Given the description of an element on the screen output the (x, y) to click on. 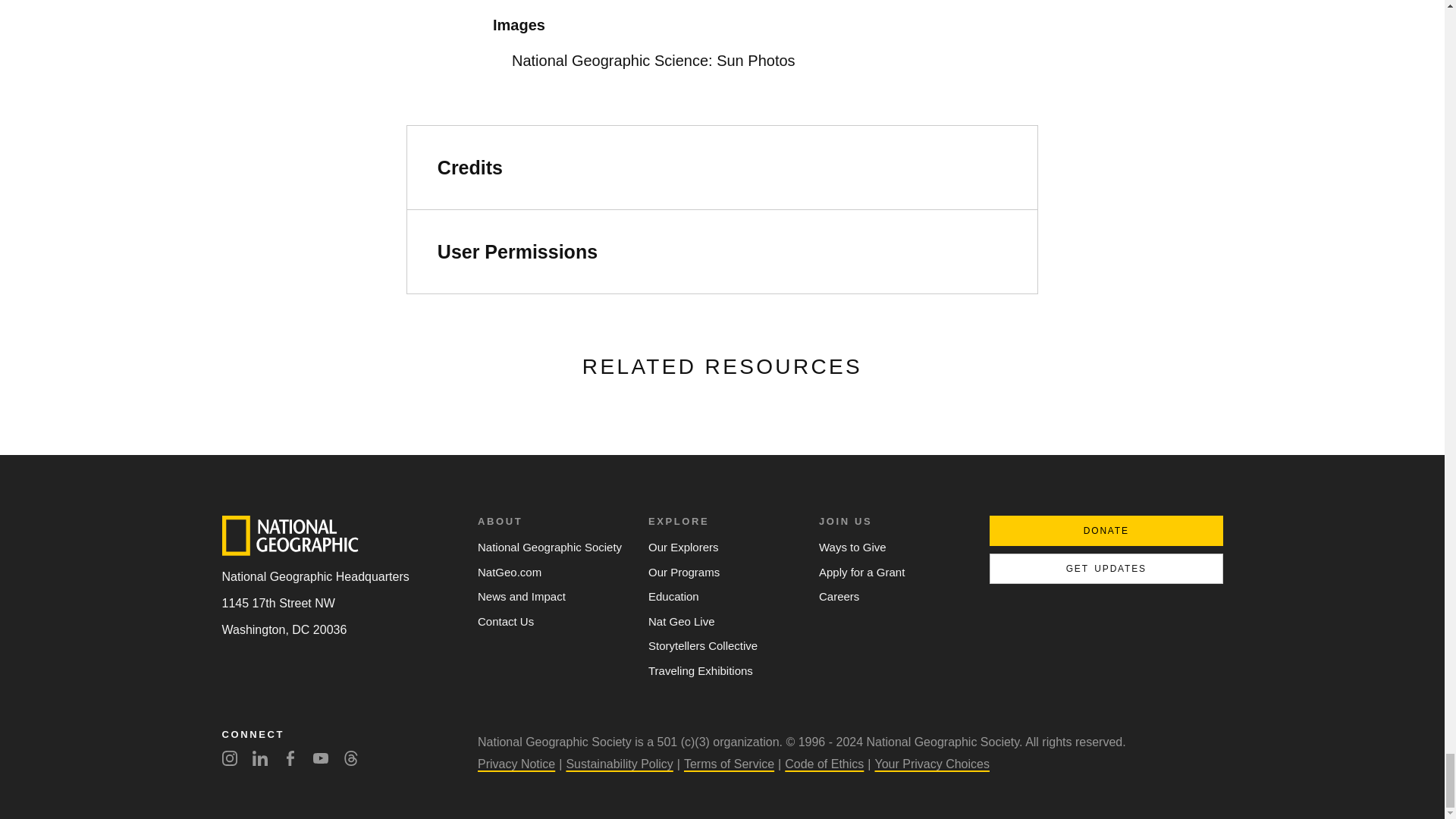
Contact Us (551, 621)
National Geographic Society (551, 547)
Our Programs (721, 571)
NatGeo.com (551, 571)
Nat Geo Live (721, 621)
Education (721, 596)
Our Explorers (721, 547)
News and Impact (551, 596)
National Geographic Science: Sun Photos (722, 60)
